Given the description of an element on the screen output the (x, y) to click on. 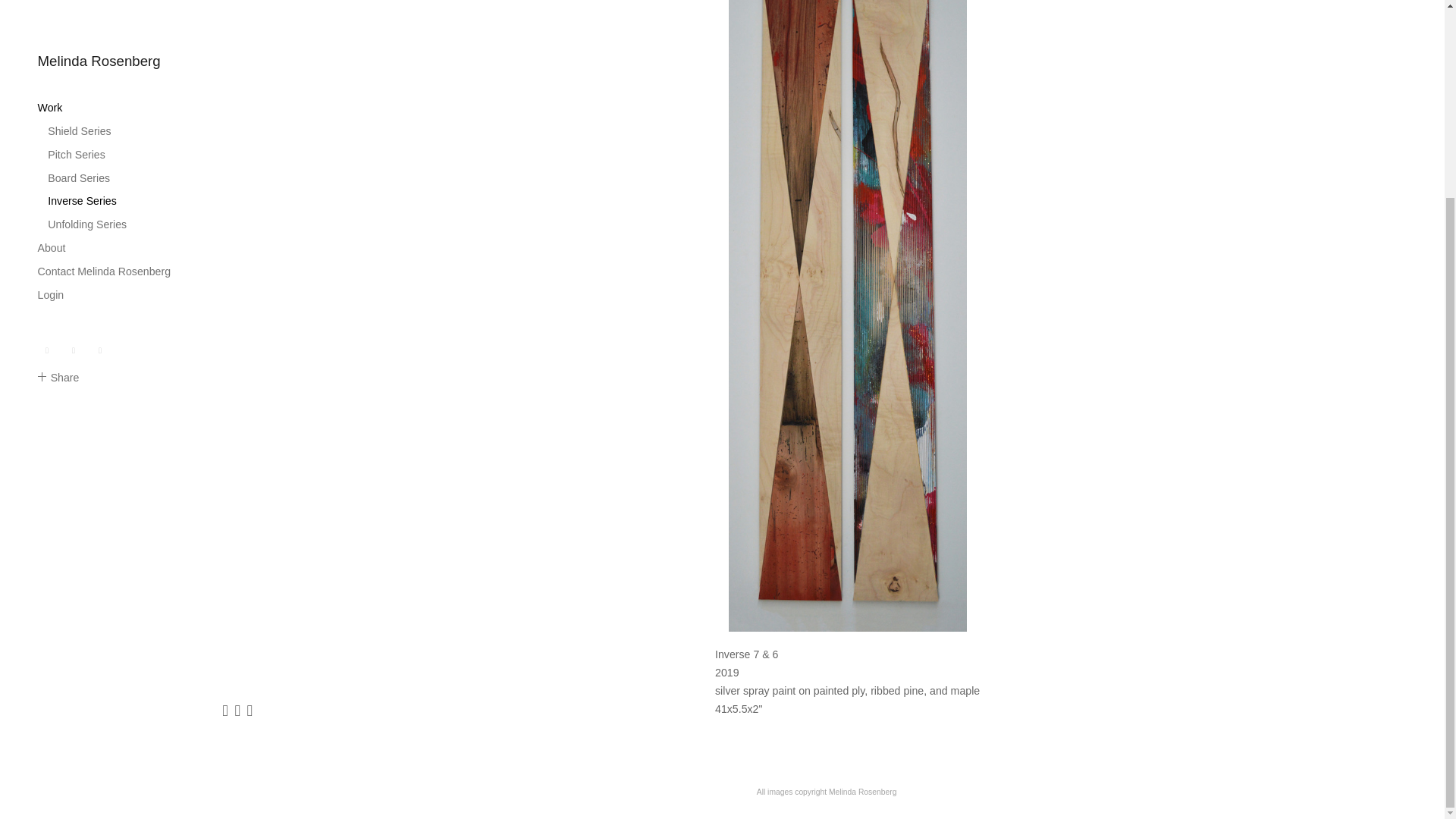
Contact Melinda Rosenberg (103, 20)
About (51, 1)
Share (58, 126)
Login (50, 43)
